Given the description of an element on the screen output the (x, y) to click on. 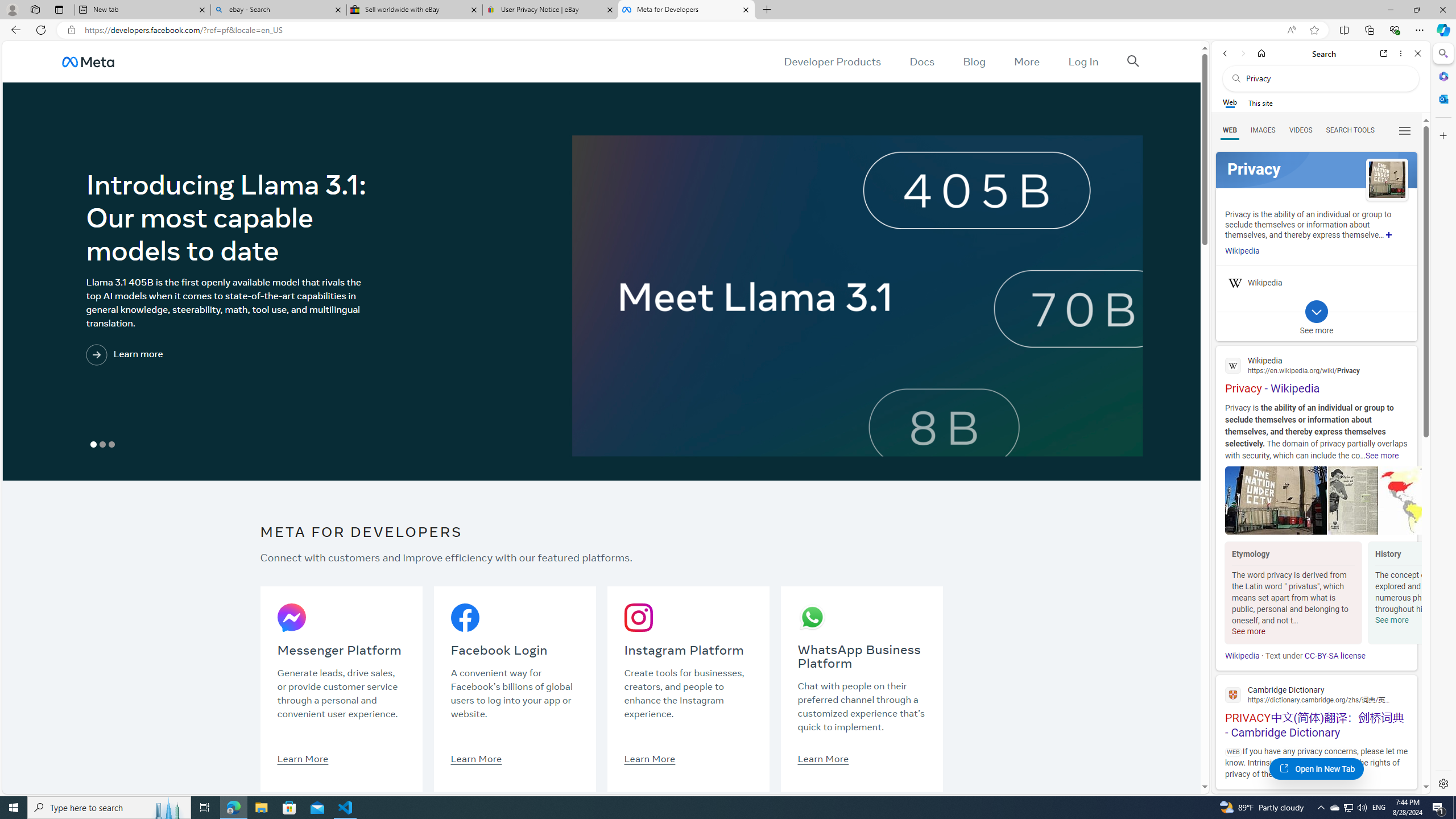
Global web icon (1232, 694)
Meta for Developers (685, 9)
Log In (1083, 61)
Web scope (1230, 102)
Search Filter, IMAGES (1262, 129)
SEARCH TOOLS (1350, 130)
Show Slide 1 (93, 444)
Search Filter, WEB (1230, 129)
Privacy - Wikipedia (1315, 373)
